Given the description of an element on the screen output the (x, y) to click on. 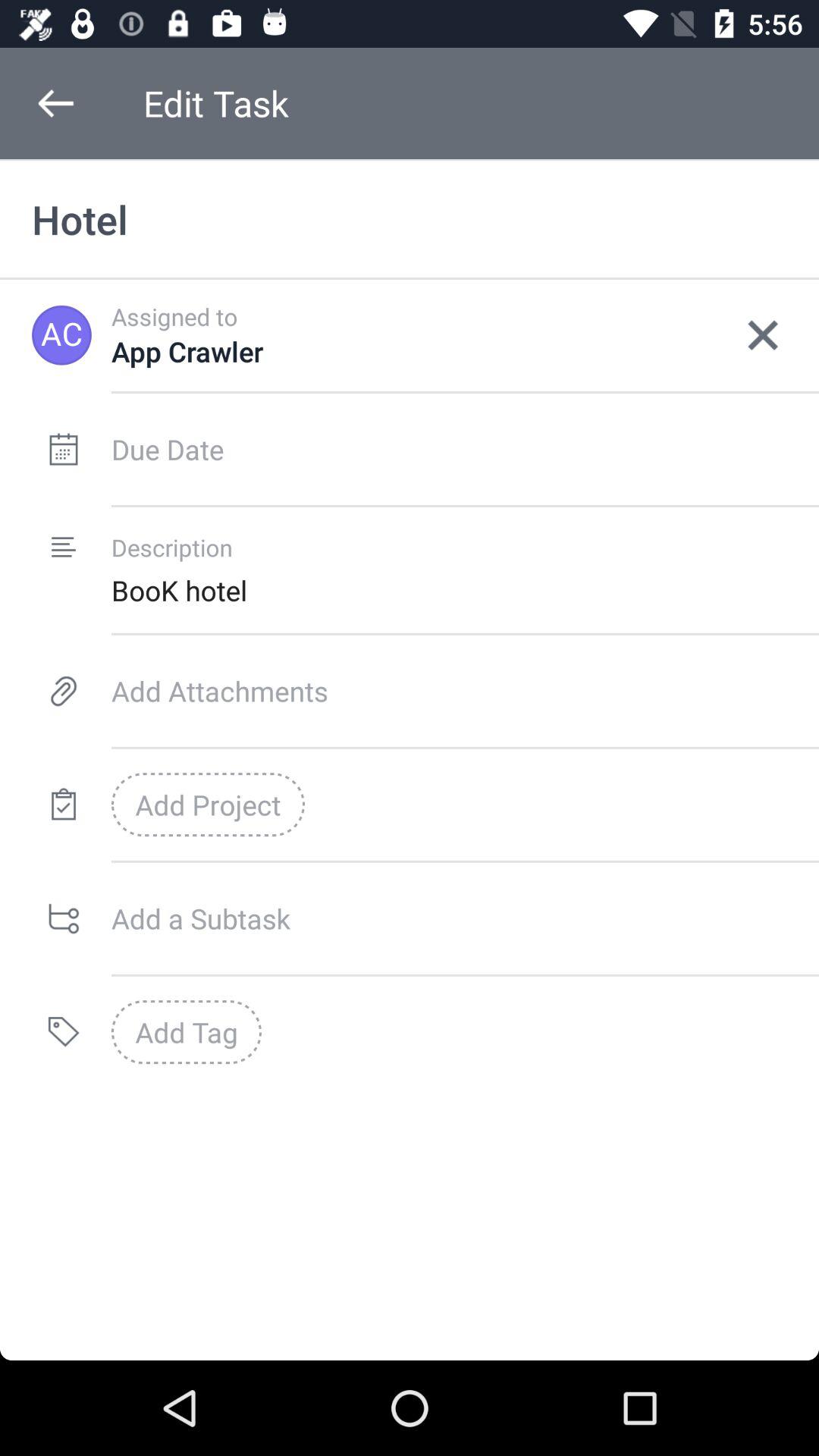
turn off icon below description (465, 590)
